Given the description of an element on the screen output the (x, y) to click on. 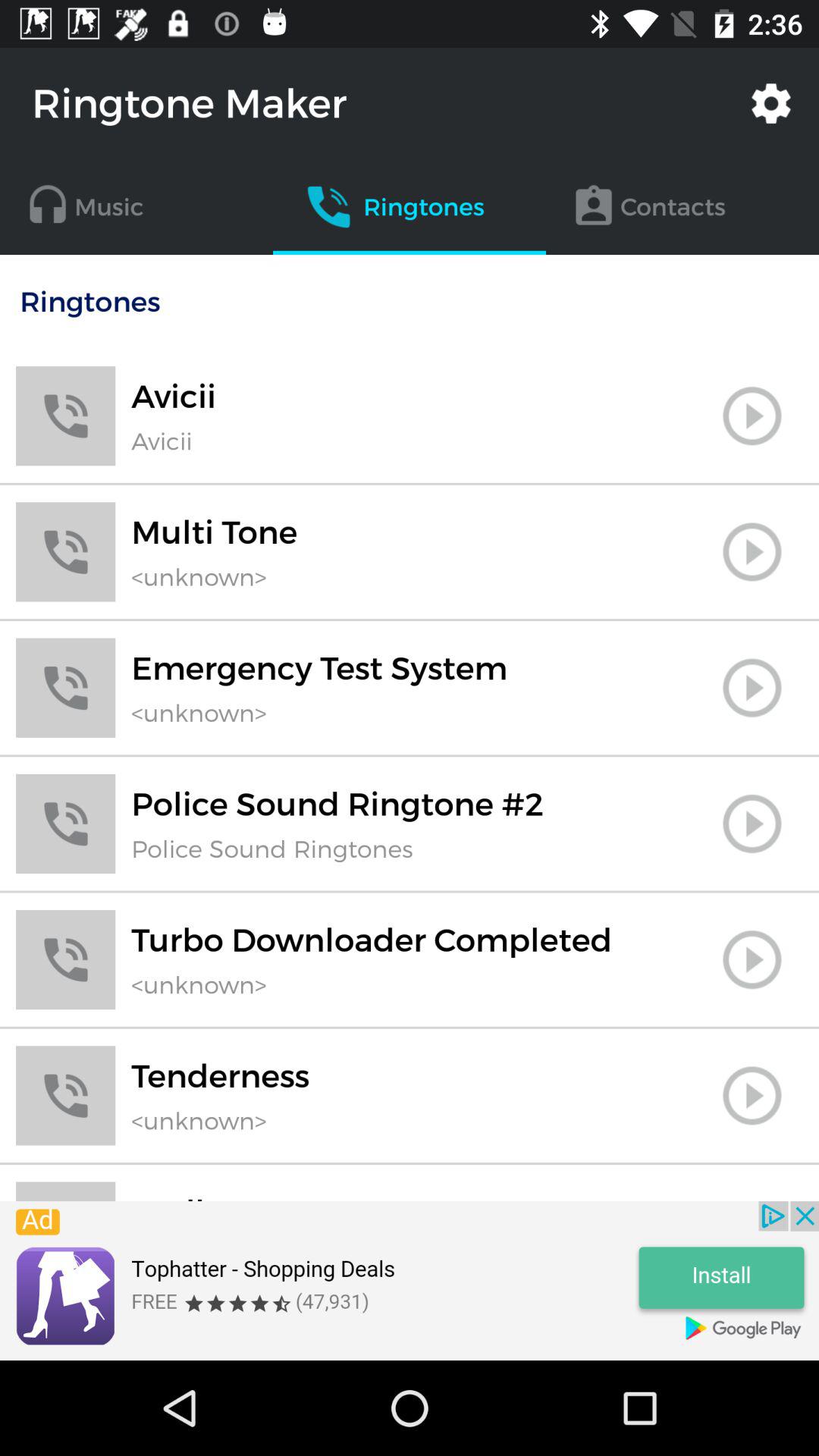
play ringtone (752, 959)
